Given the description of an element on the screen output the (x, y) to click on. 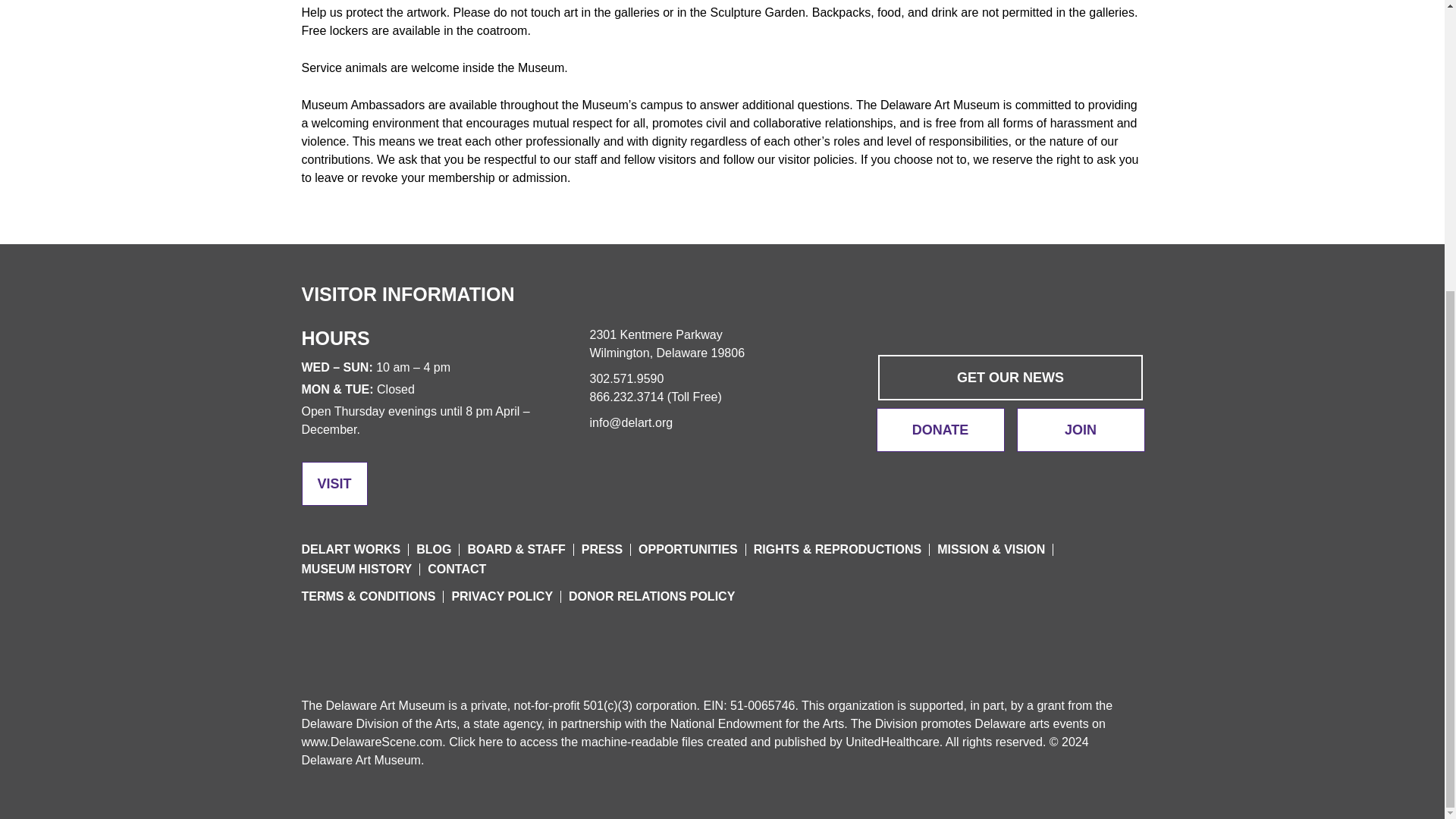
VISIT (334, 483)
OPPORTUNITIES (688, 549)
MUSEUM HISTORY (356, 568)
JOIN (1080, 429)
DELART WORKS (351, 549)
BLOG (433, 549)
302.571.9590 (626, 378)
866.232.3714 (626, 396)
GET OUR NEWS (1009, 377)
PRESS (601, 549)
DONATE (940, 429)
